Given the description of an element on the screen output the (x, y) to click on. 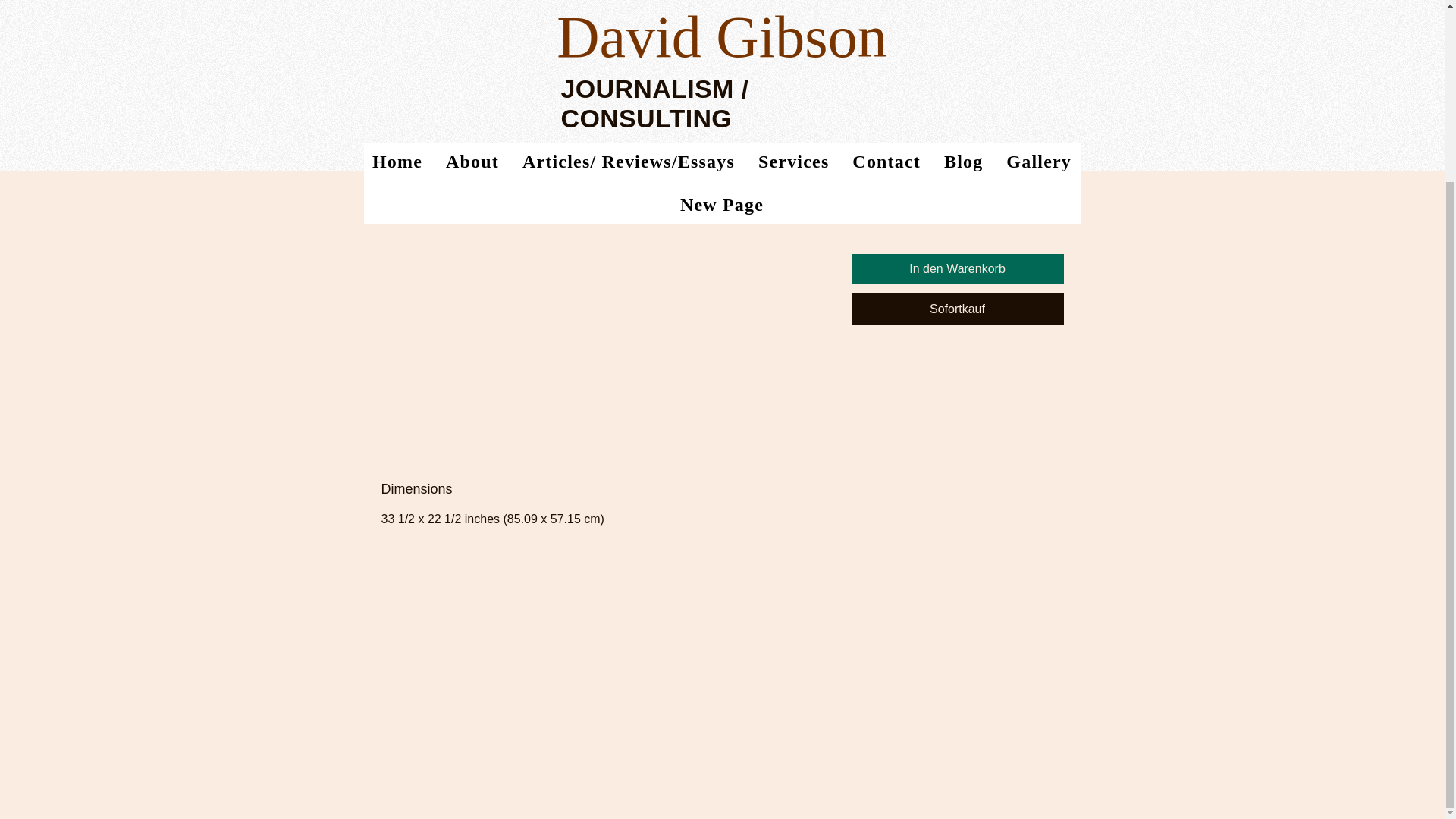
Sofortkauf (956, 309)
In den Warenkorb (956, 268)
